Given the description of an element on the screen output the (x, y) to click on. 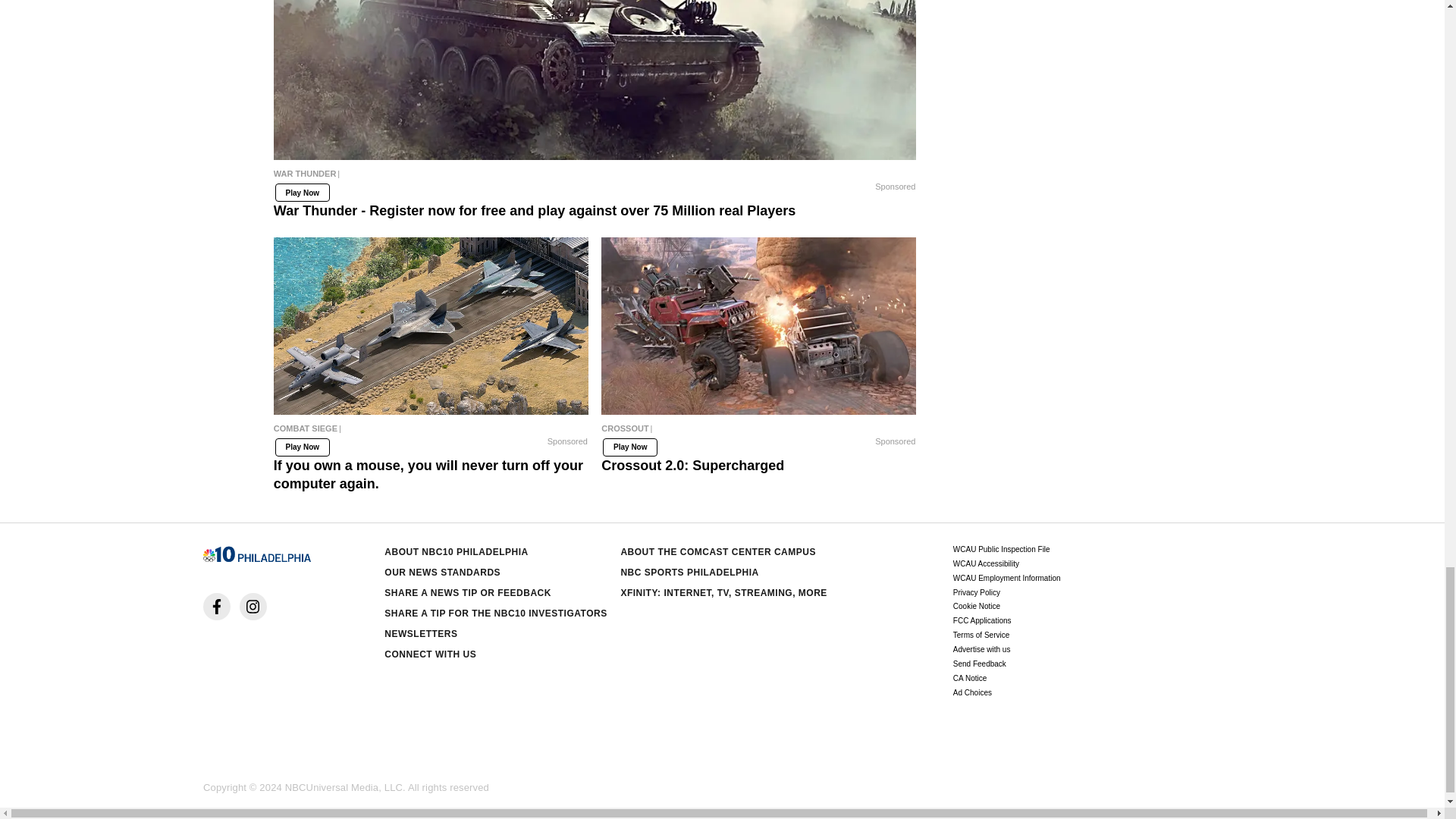
Crossout 2.0: Supercharged (758, 431)
Crossout 2.0: Supercharged (758, 325)
